Given the description of an element on the screen output the (x, y) to click on. 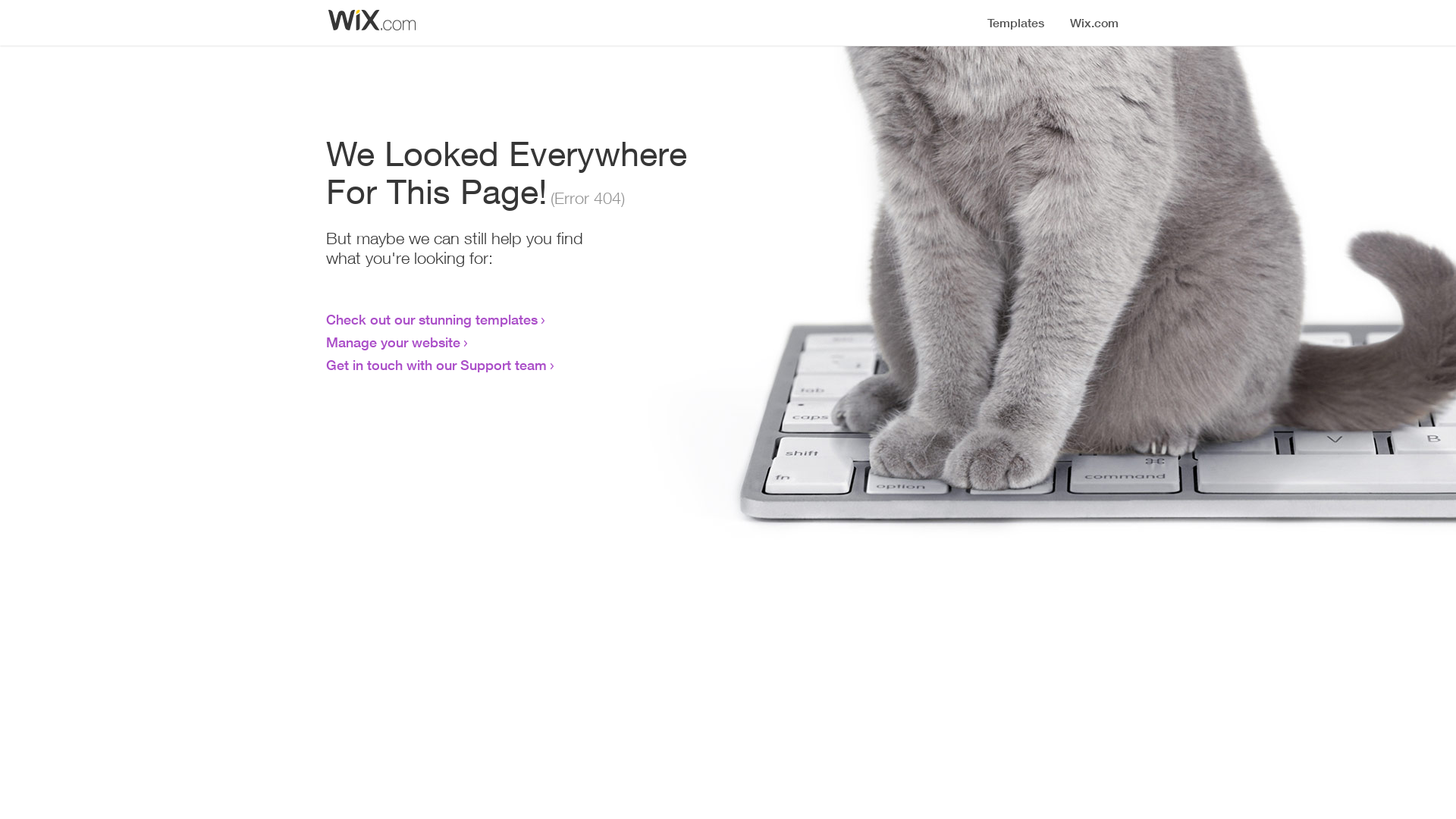
Check out our stunning templates Element type: text (431, 318)
Get in touch with our Support team Element type: text (436, 364)
Manage your website Element type: text (393, 341)
